Given the description of an element on the screen output the (x, y) to click on. 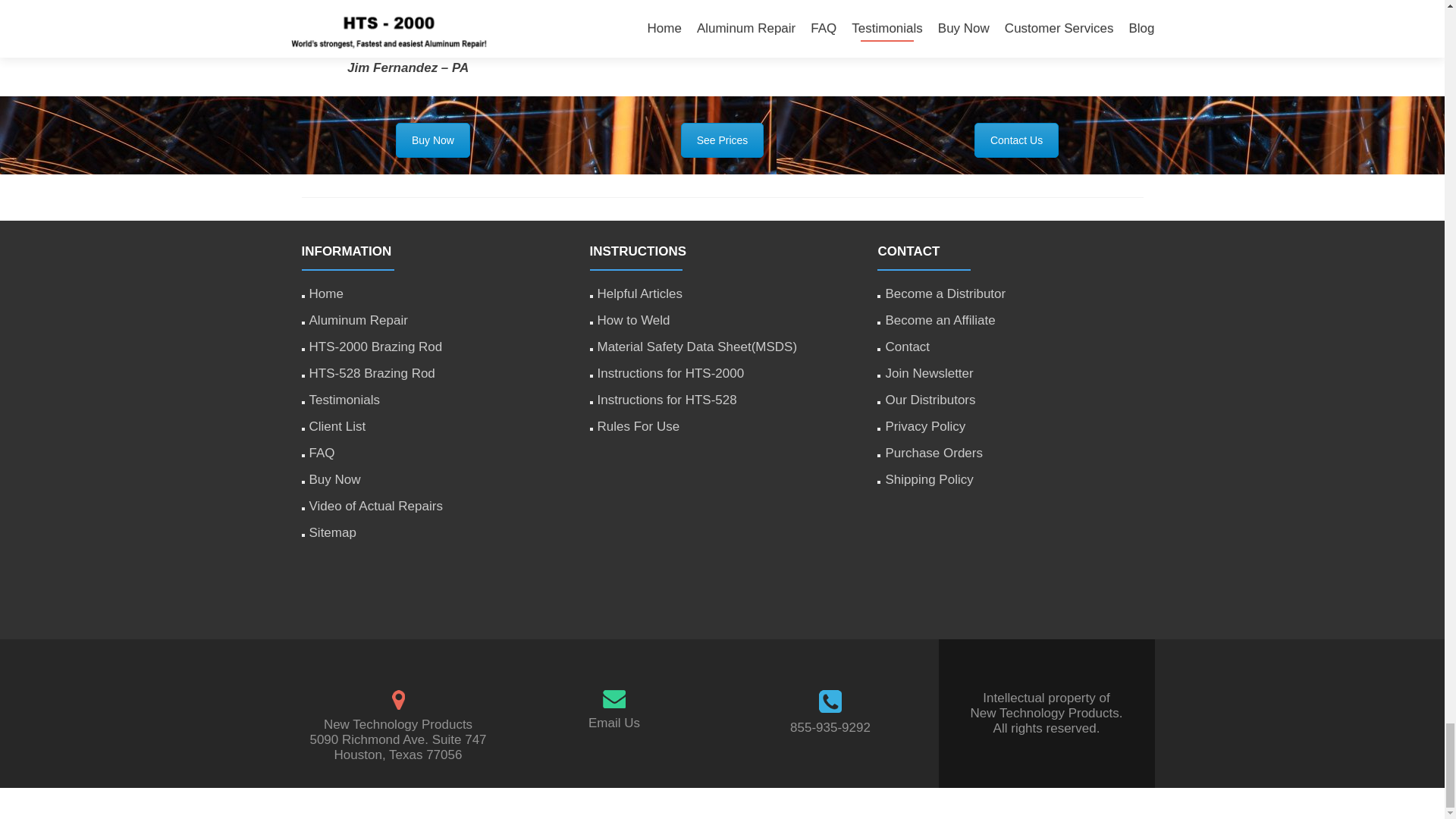
Home (325, 293)
Sitemap (332, 532)
See Prices (722, 140)
Video of Actual Repairs (375, 505)
HTS-2000 Brazing Rod (375, 346)
Buy Now (334, 479)
FAQ (321, 452)
Contact Us (1016, 140)
HTS-528 Brazing Rod (371, 373)
Testimonials (344, 400)
Aluminum Repair (357, 319)
Buy Now (433, 140)
Client List (337, 426)
